Given the description of an element on the screen output the (x, y) to click on. 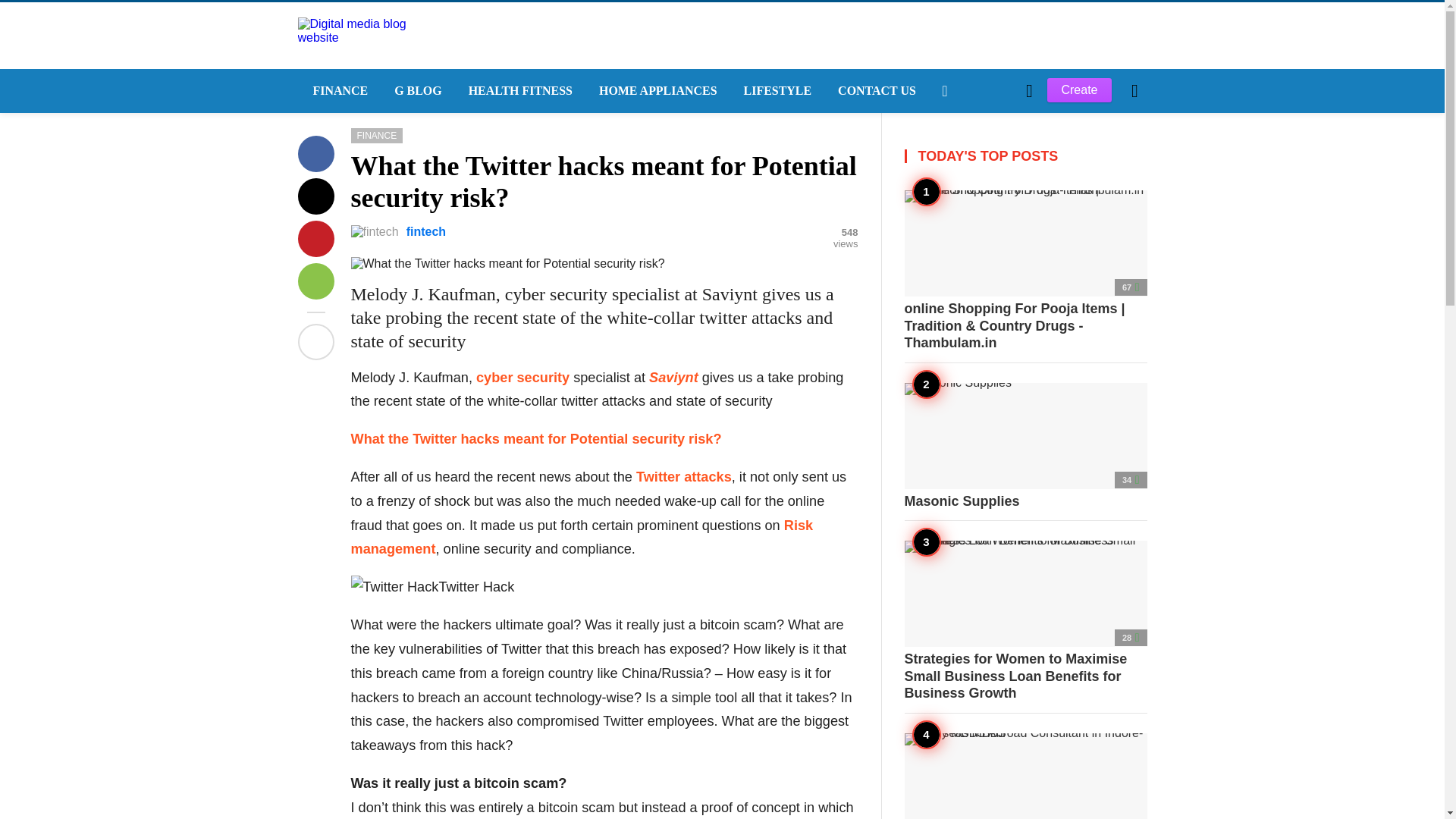
HEALTH FITNESS (517, 90)
sign up (964, 347)
Log in (962, 347)
Study MBBS Abroad Consultant in Indore- Overseas MBBS (1025, 775)
LIFESTYLE (776, 90)
G BLOG (415, 90)
CONTACT US (874, 90)
HOME APPLIANCES (656, 90)
Masonic Supplies (1025, 445)
